Given the description of an element on the screen output the (x, y) to click on. 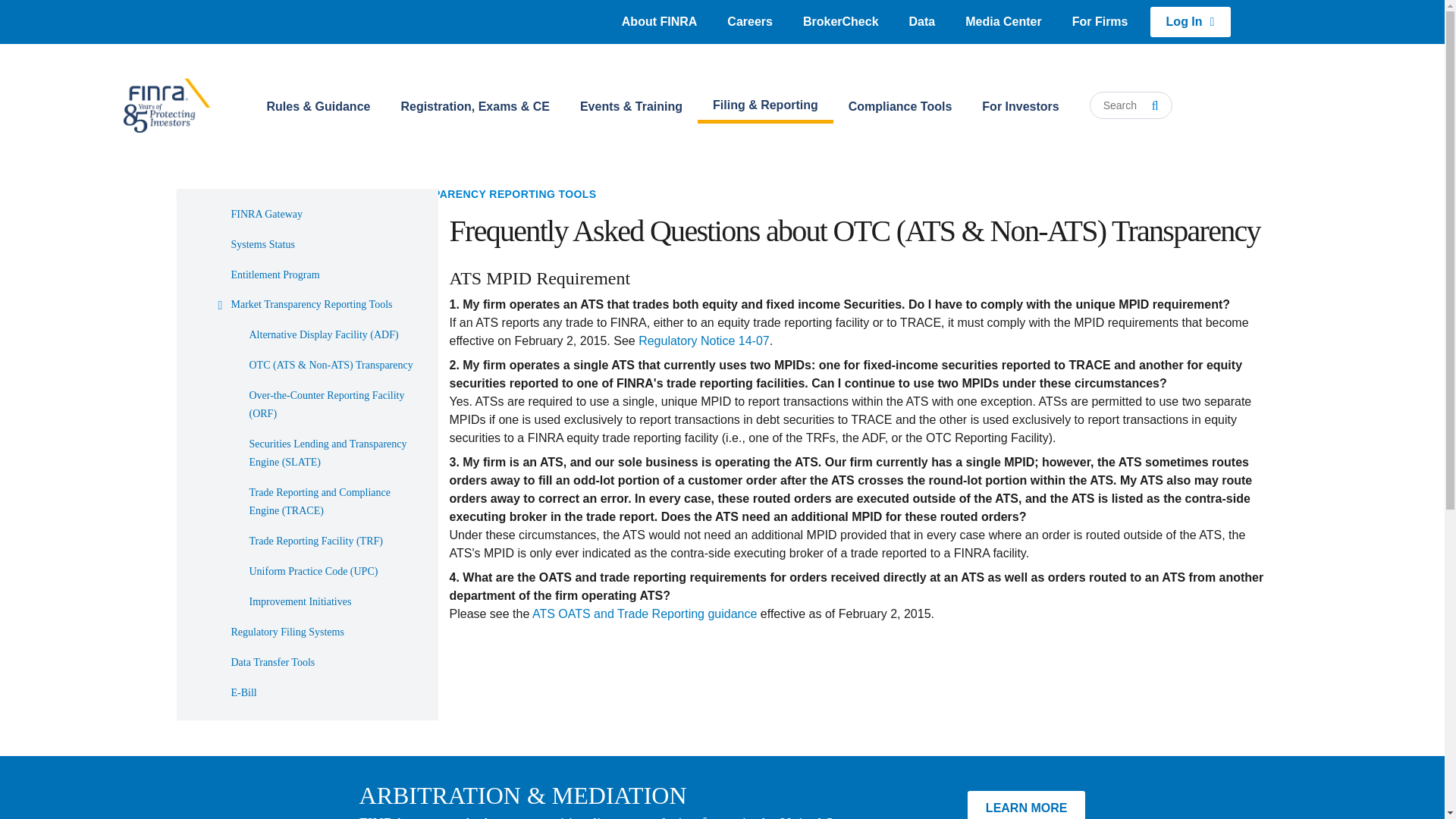
Media Center (1002, 21)
Home (165, 104)
Data (922, 21)
For Firms (1100, 21)
About FINRA (659, 21)
BrokerCheck (840, 21)
Careers (749, 21)
